Given the description of an element on the screen output the (x, y) to click on. 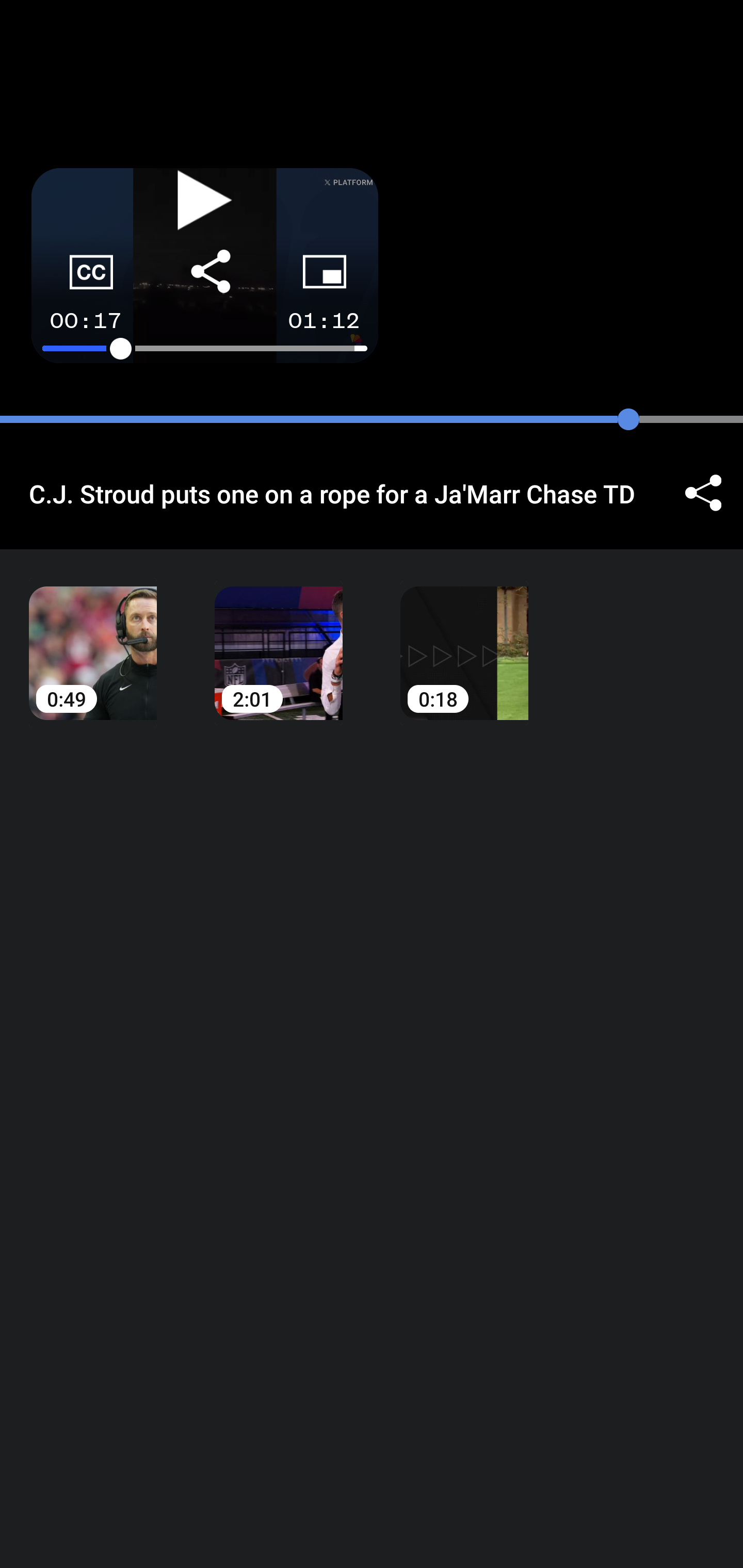
Share © (703, 493)
0:49 (92, 637)
2:01 (278, 637)
0:18 (464, 637)
